Given the description of an element on the screen output the (x, y) to click on. 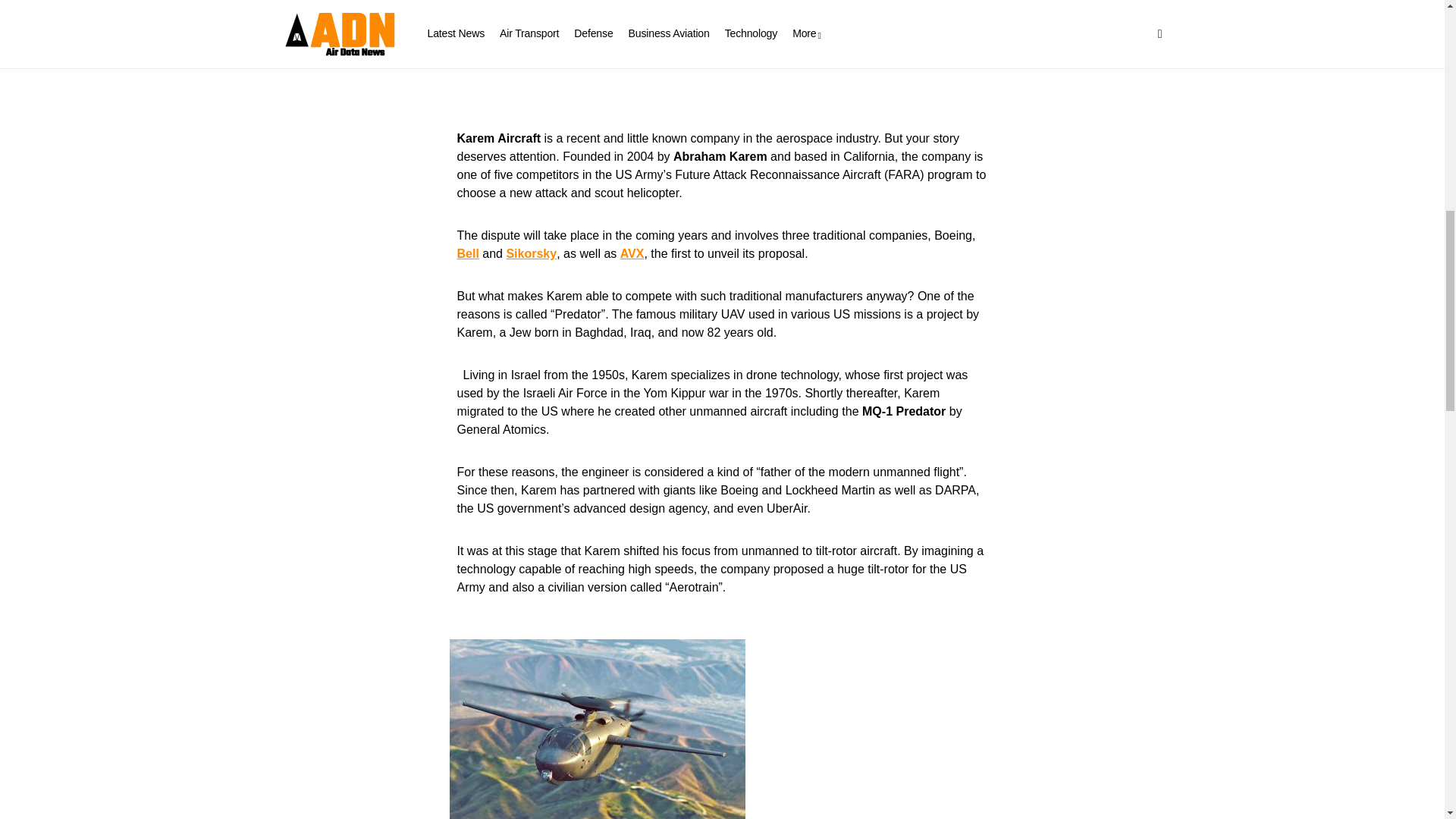
AVX (632, 253)
Sikorsky (530, 253)
Bell (468, 253)
